Given the description of an element on the screen output the (x, y) to click on. 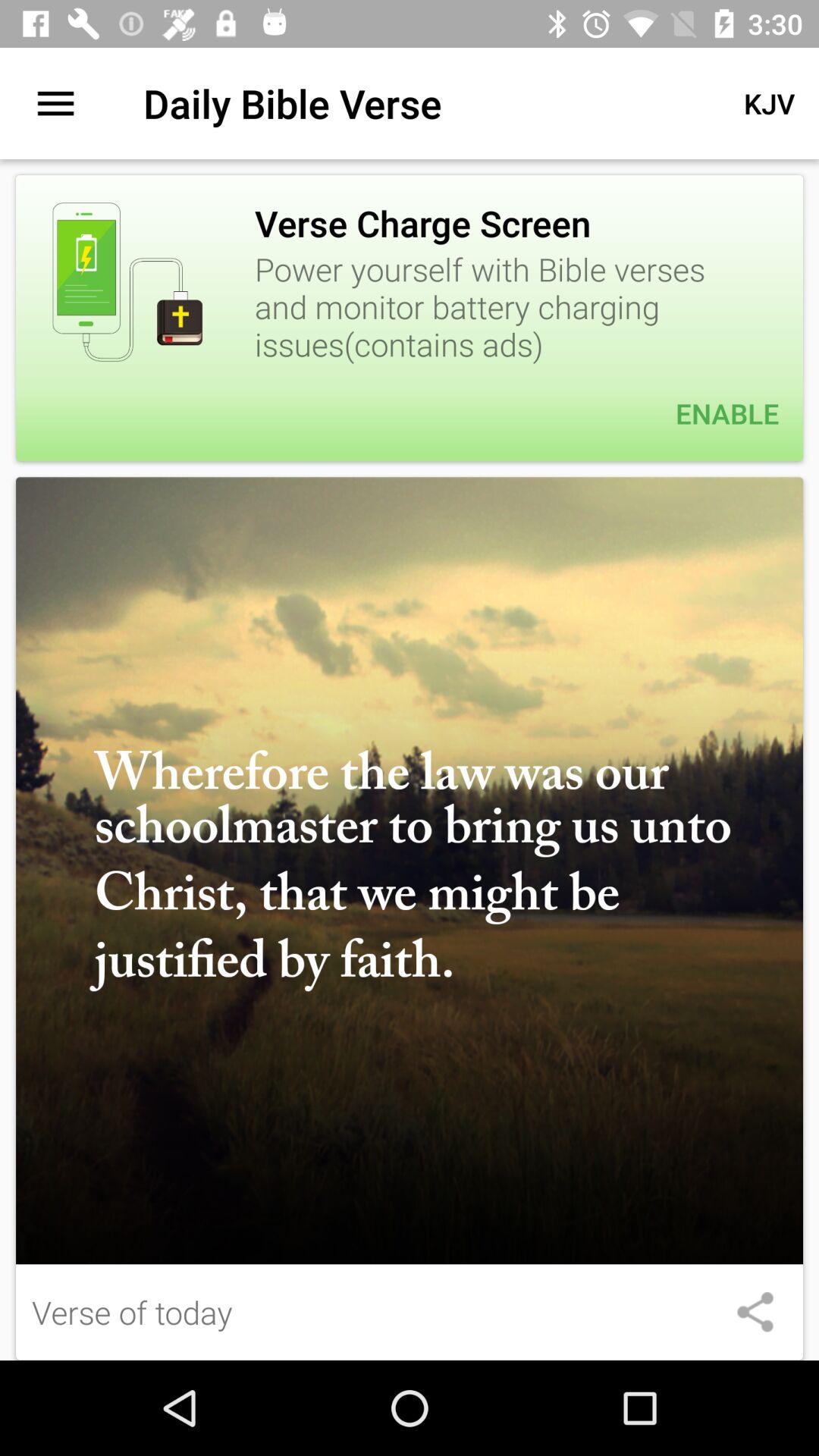
press item below the power yourself with (409, 413)
